Given the description of an element on the screen output the (x, y) to click on. 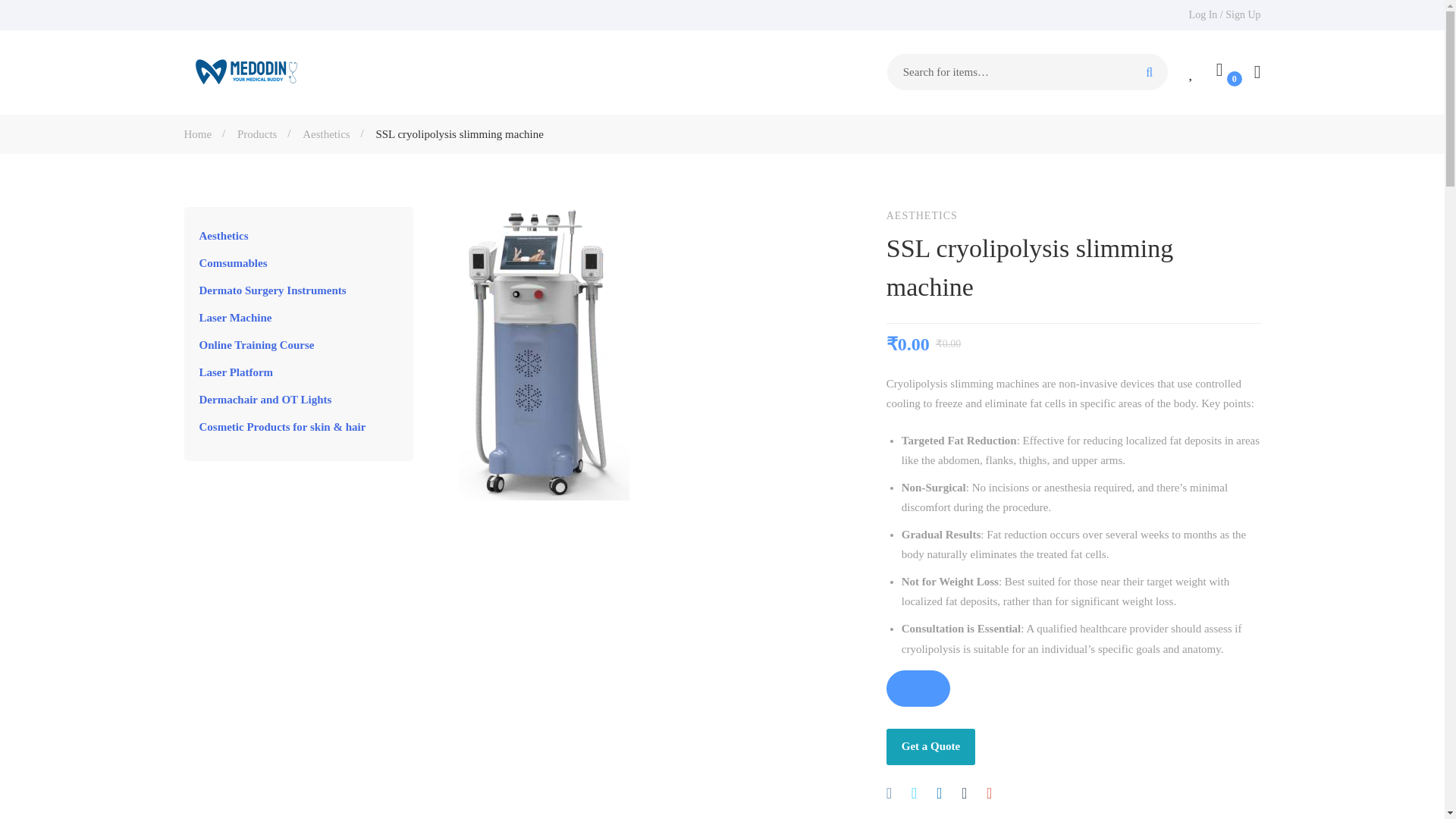
Search for: (1026, 72)
View your shopping cart (1224, 71)
